Given the description of an element on the screen output the (x, y) to click on. 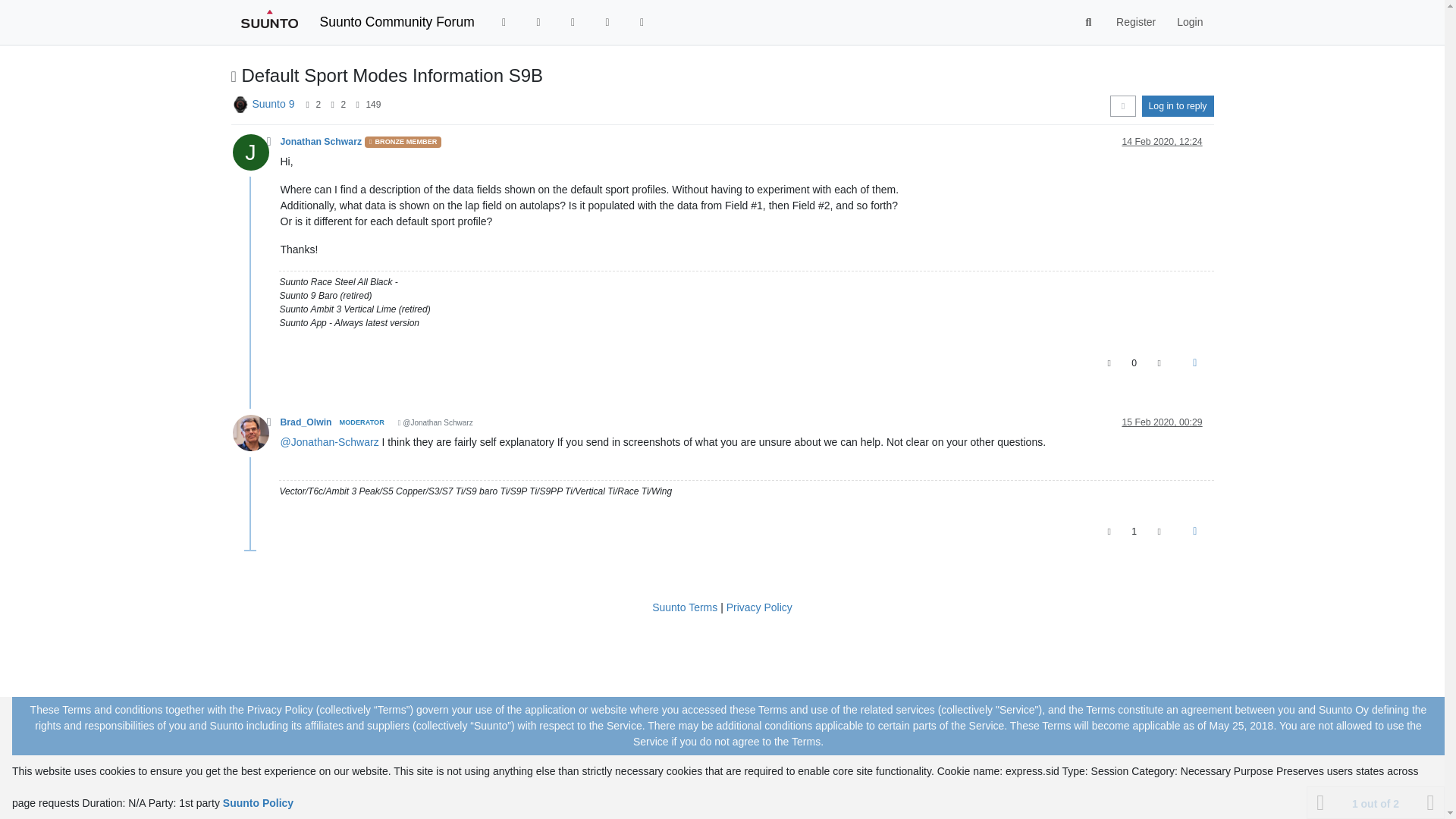
Groups (641, 22)
Log in to reply (1177, 106)
BRONZE MEMBER (403, 142)
Popular (573, 22)
Recent (503, 22)
Tags (538, 22)
Register (1135, 22)
Jonathan Schwarz (321, 141)
Posters (307, 103)
Suunto Community Forum (397, 22)
J (255, 155)
14 Feb 2020, 12:24 (1161, 141)
Search (1088, 22)
Login (1189, 22)
Users (606, 22)
